Given the description of an element on the screen output the (x, y) to click on. 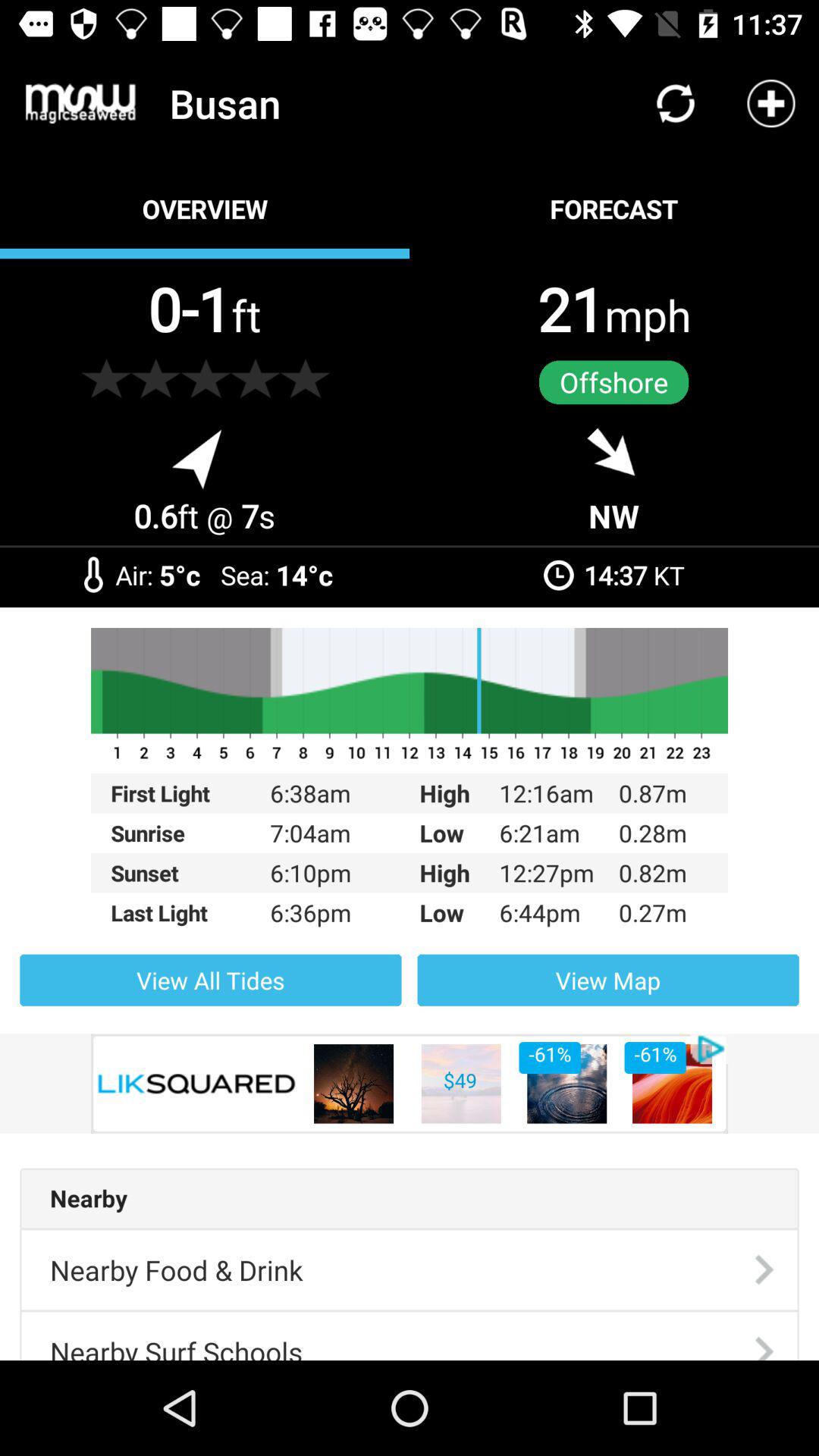
open the item to the left of the 7:04am item (190, 872)
